Given the description of an element on the screen output the (x, y) to click on. 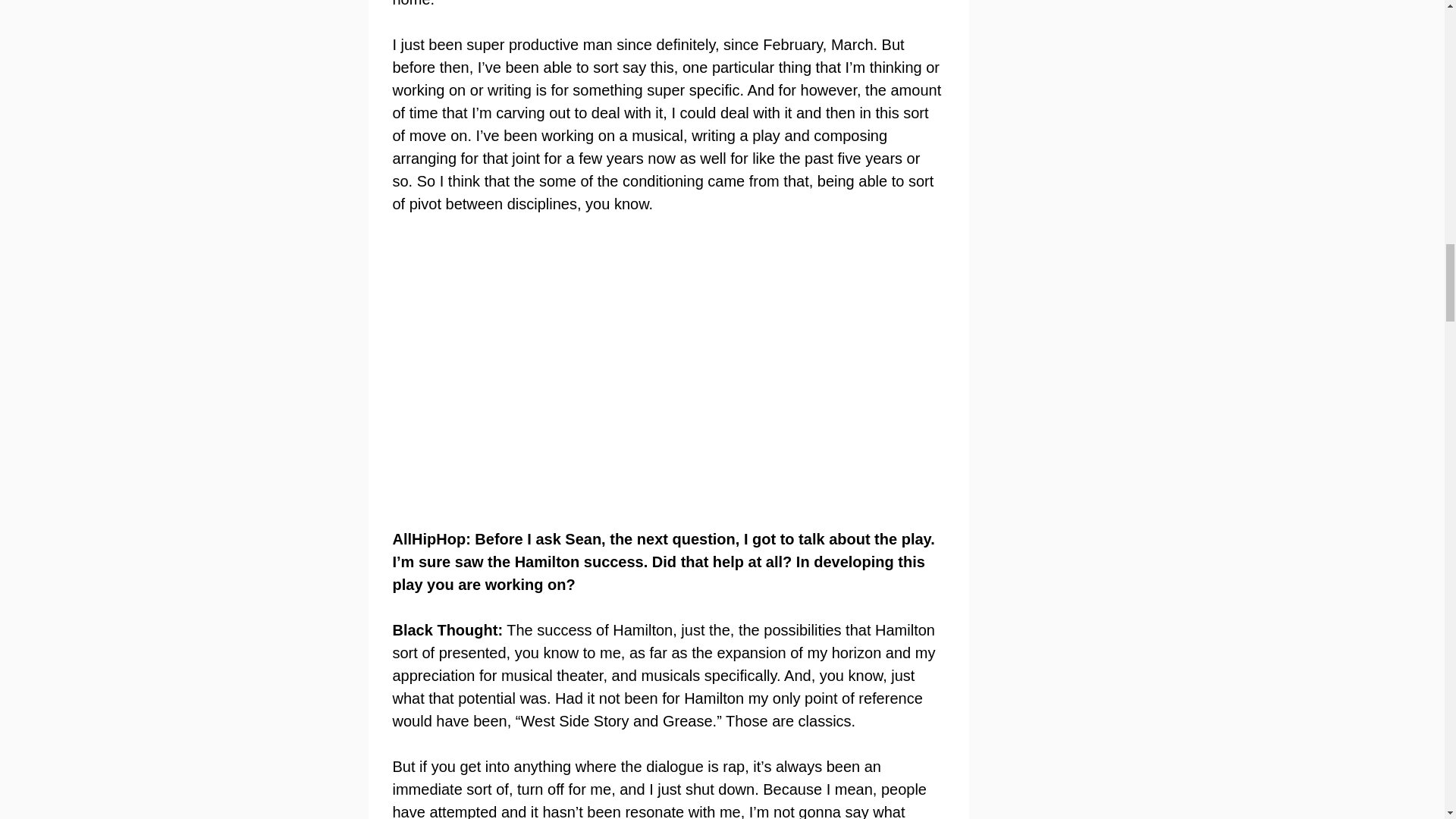
YouTube player (631, 372)
